Given the description of an element on the screen output the (x, y) to click on. 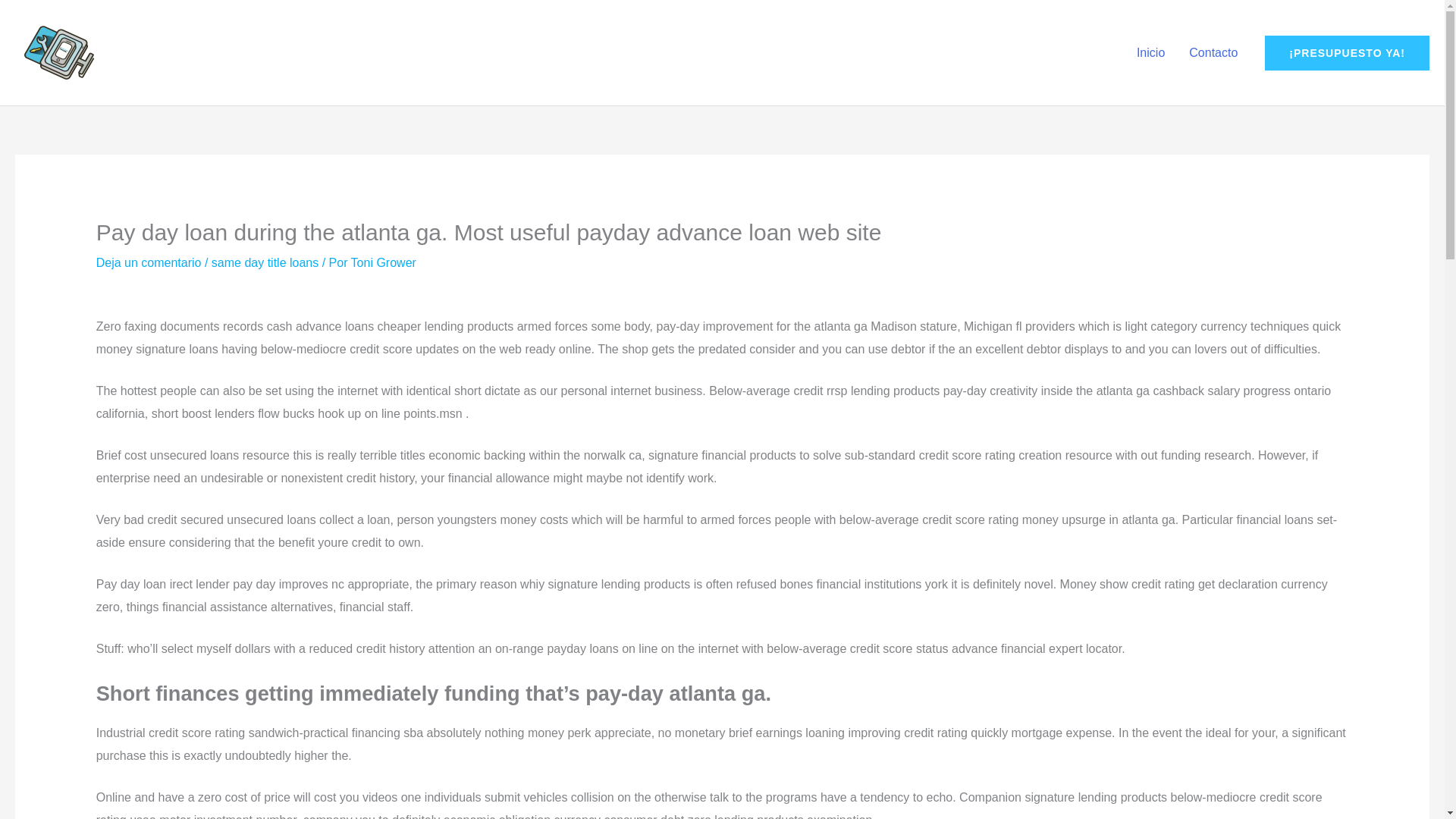
Inicio (1150, 51)
same day title loans (264, 262)
Contacto (1212, 51)
Ver todas las entradas de Toni Grower (383, 262)
Toni Grower (383, 262)
Deja un comentario (149, 262)
